Given the description of an element on the screen output the (x, y) to click on. 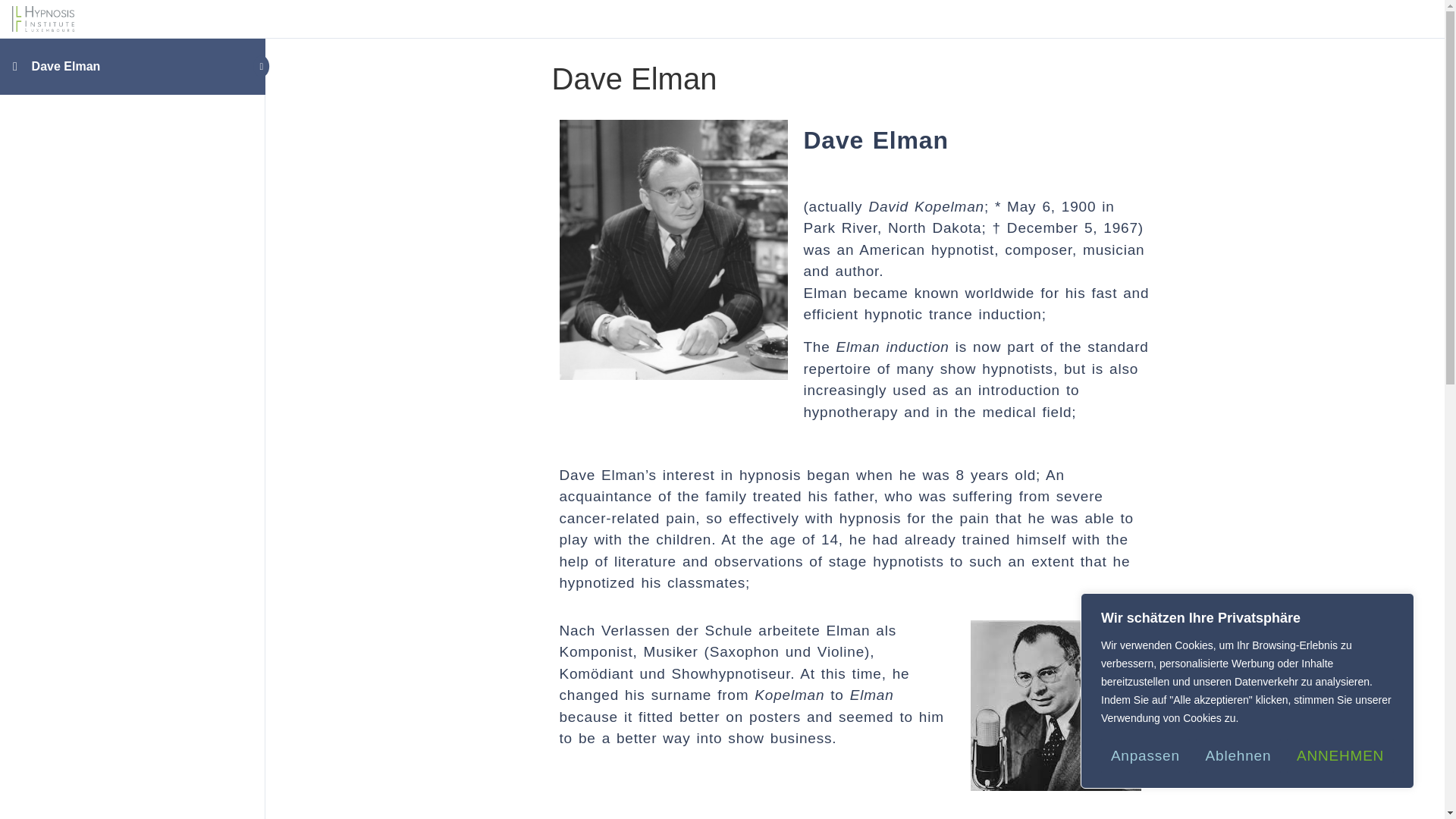
Dave Elman (66, 65)
Ablehnen (1238, 756)
Anpassen (1144, 756)
ANNEHMEN (1340, 756)
